Given the description of an element on the screen output the (x, y) to click on. 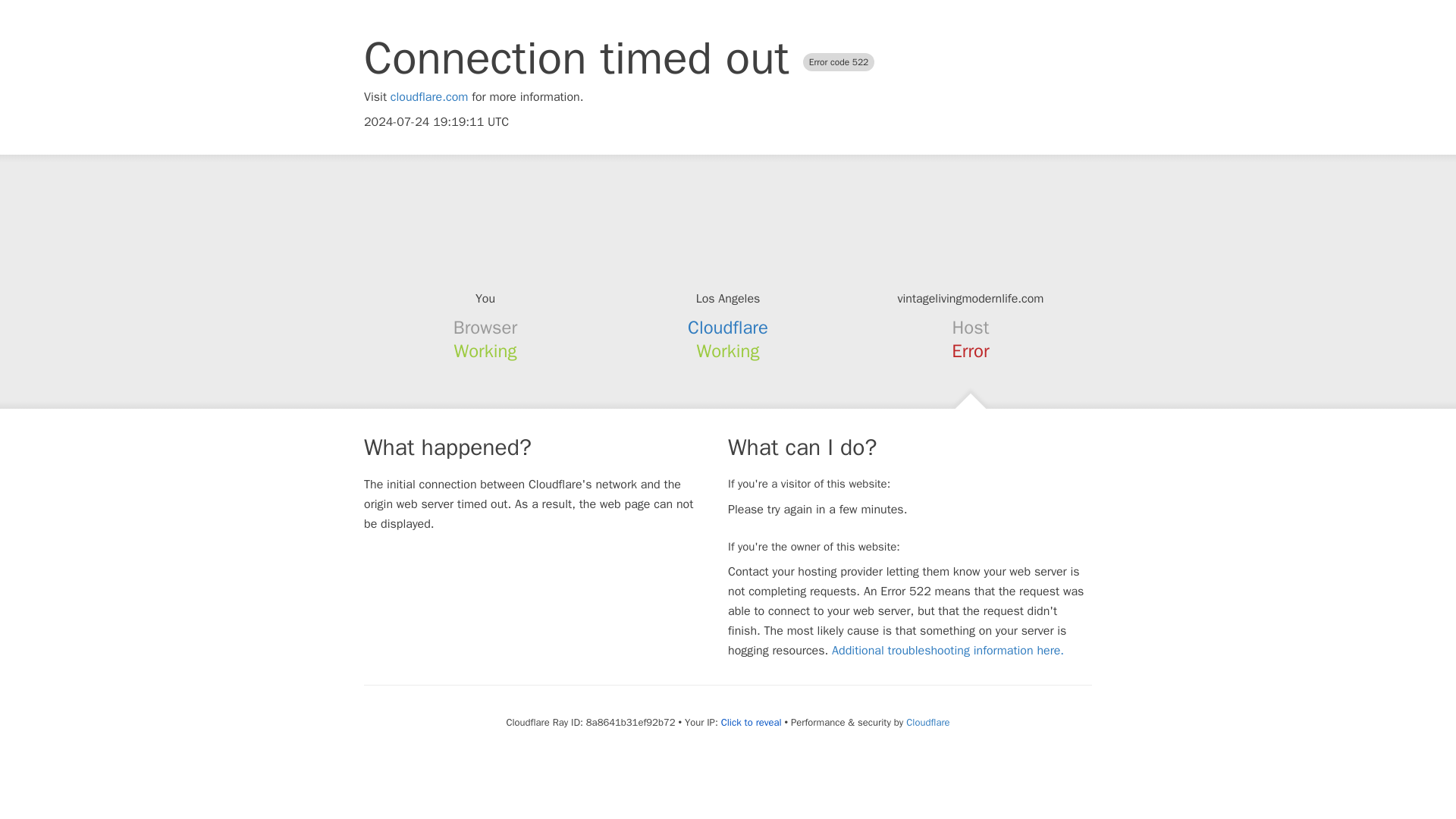
Cloudflare (927, 721)
Additional troubleshooting information here. (947, 650)
Click to reveal (750, 722)
cloudflare.com (429, 96)
Cloudflare (727, 327)
